Given the description of an element on the screen output the (x, y) to click on. 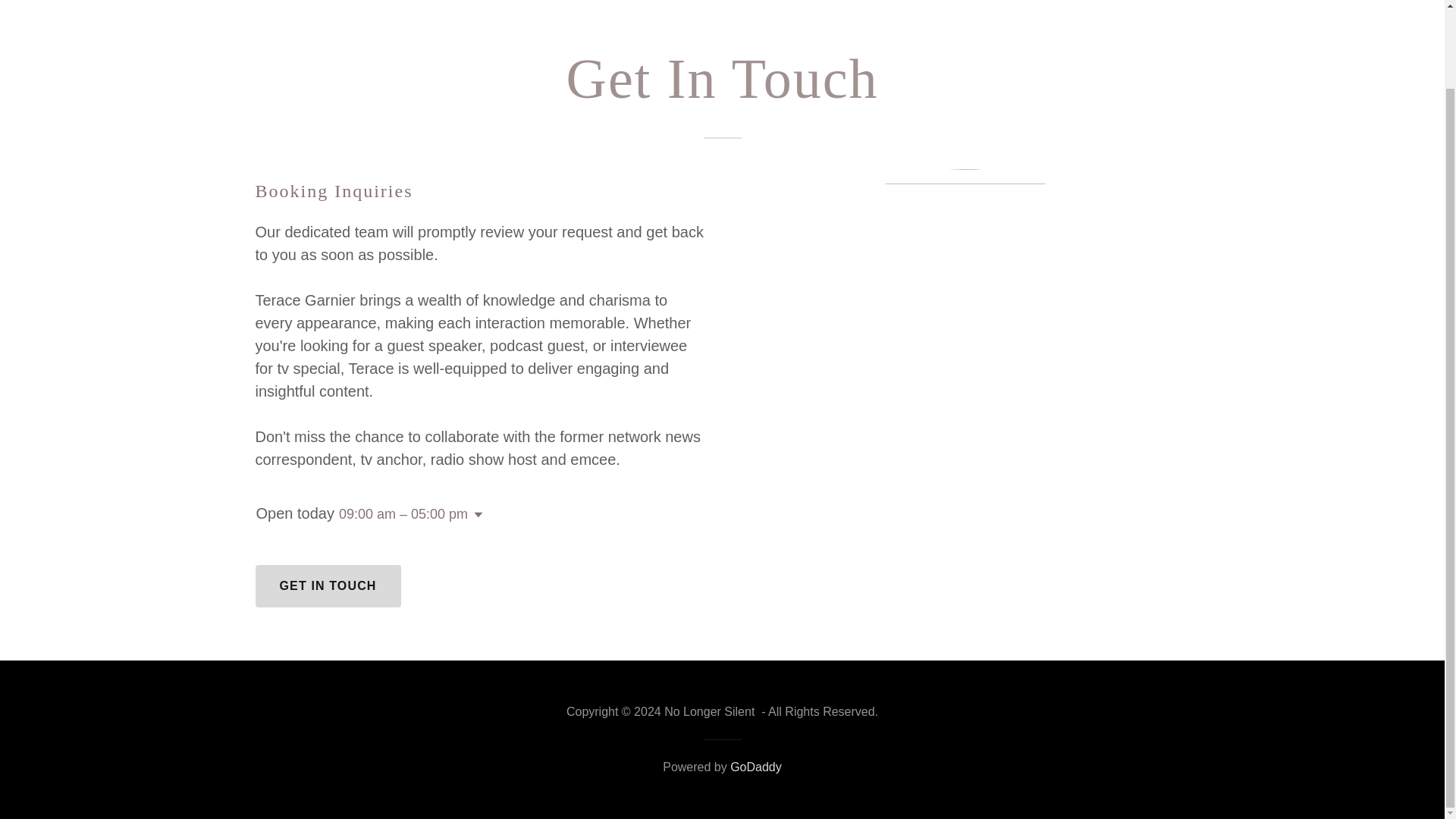
GoDaddy (755, 766)
GET IN TOUCH (327, 586)
